Given the description of an element on the screen output the (x, y) to click on. 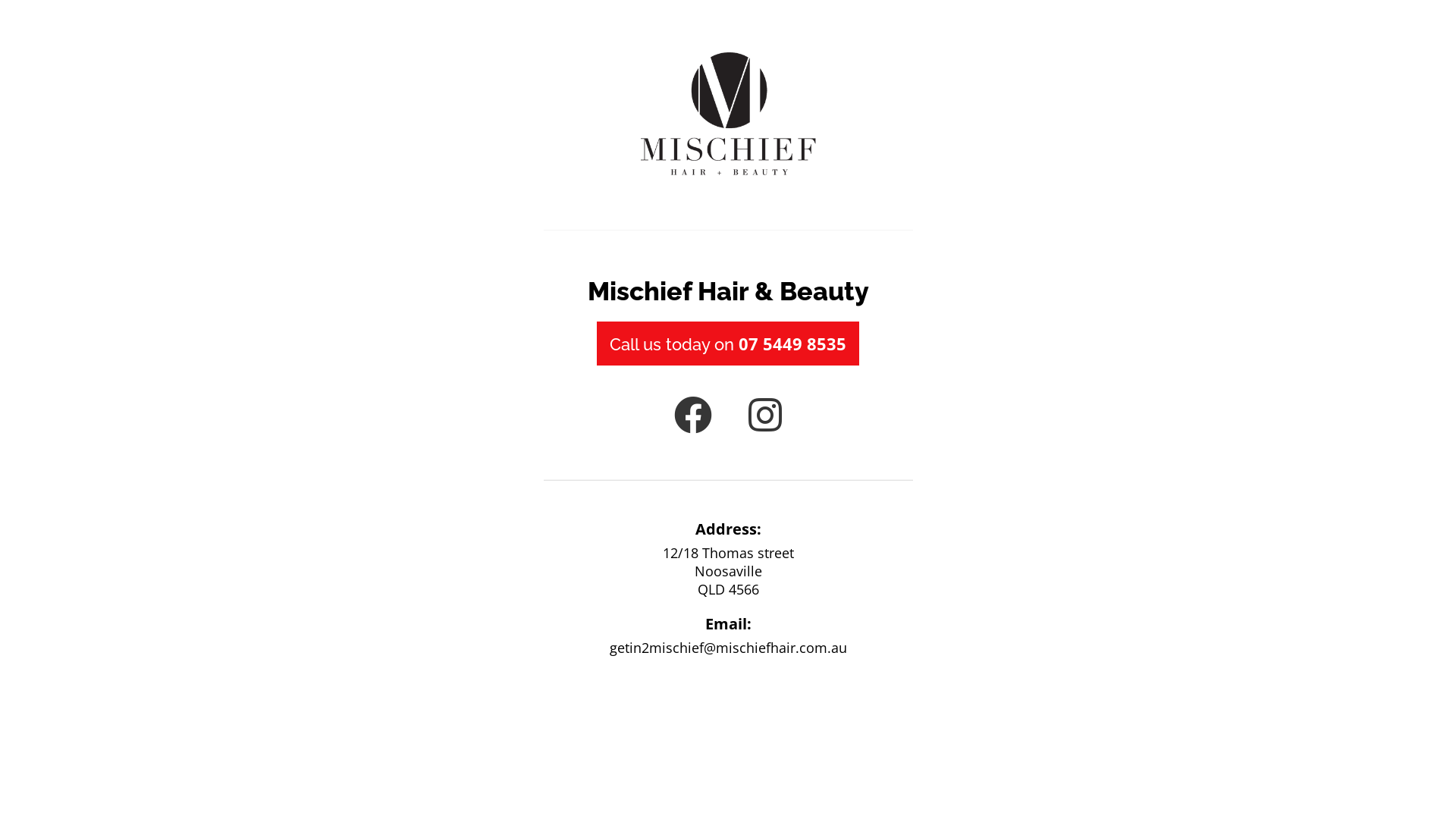
07 5449 8535 Element type: text (792, 343)
getin2mischief@mischiefhair.com.au Element type: text (728, 647)
